Given the description of an element on the screen output the (x, y) to click on. 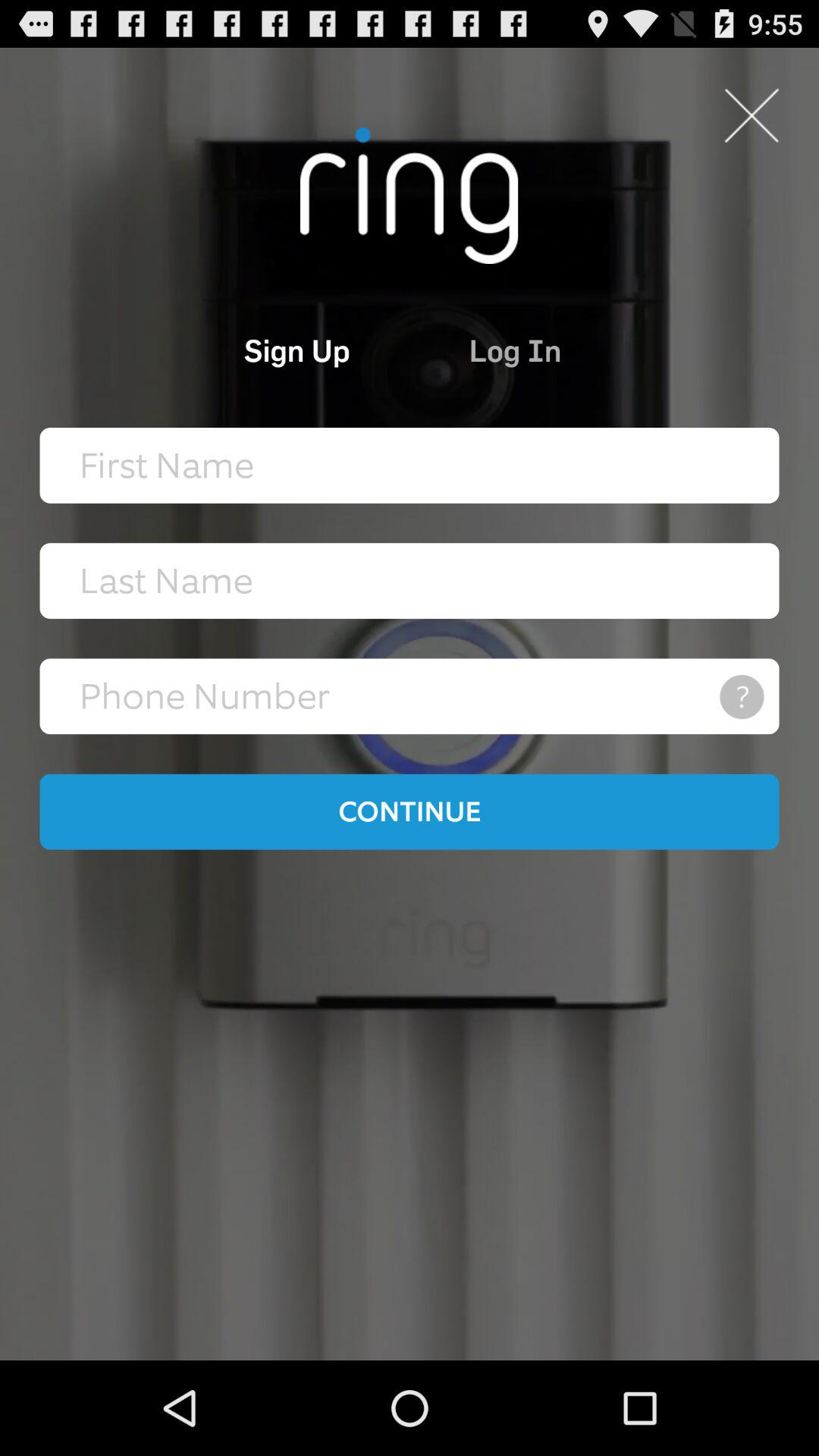
click the icon at the top left corner (234, 349)
